Given the description of an element on the screen output the (x, y) to click on. 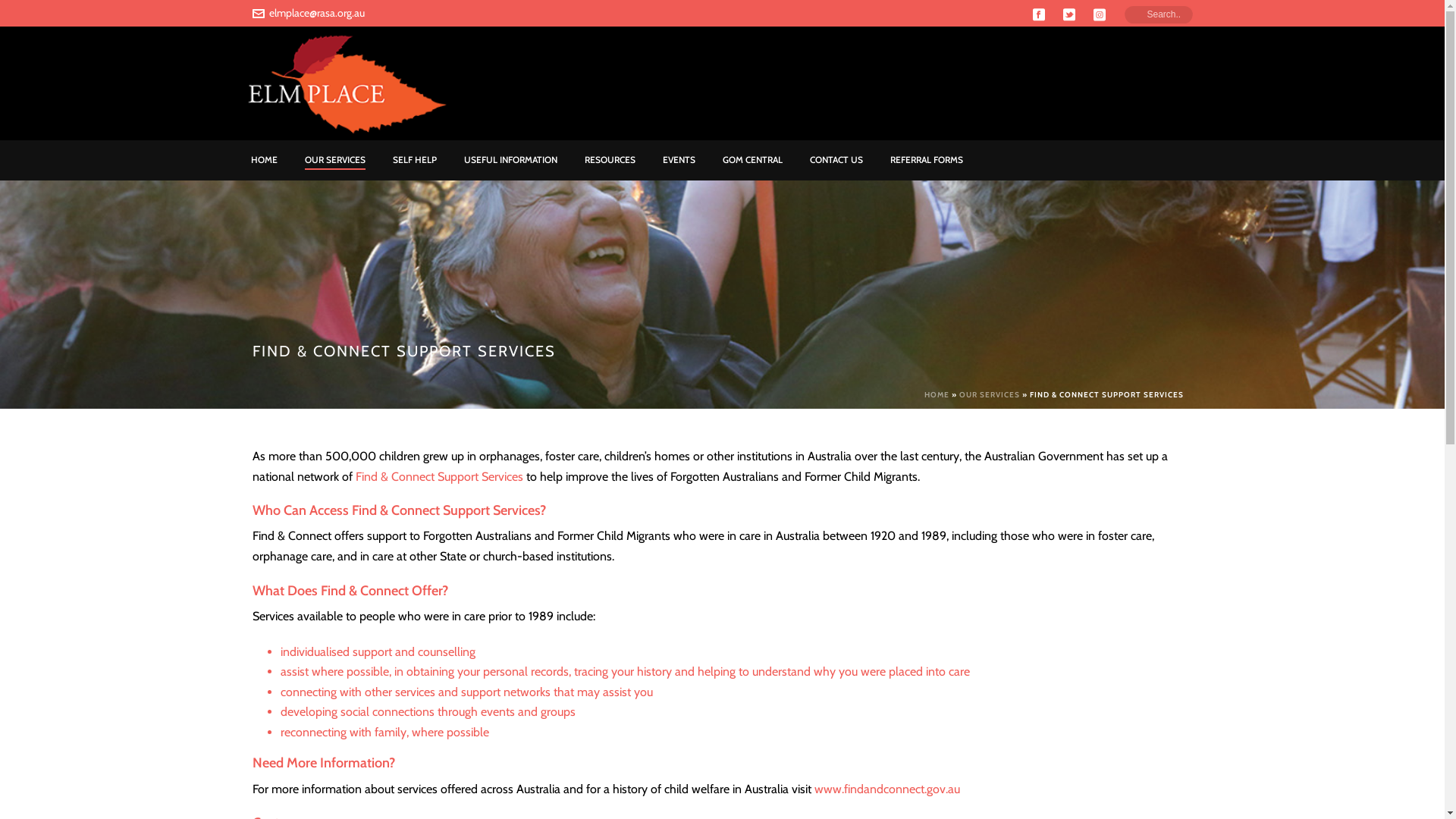
OUR SERVICES Element type: text (988, 394)
OUR SERVICES Element type: text (335, 160)
SELF HELP Element type: text (414, 160)
HOME Element type: text (935, 394)
EVENTS Element type: text (679, 160)
Elm Place Element type: hover (340, 83)
REFERRAL FORMS Element type: text (926, 160)
RESOURCES Element type: text (609, 160)
www.findandconnect.gov.au Element type: text (887, 788)
Find & Connect Support Services Element type: text (438, 476)
CONTACT US Element type: text (836, 160)
GOM CENTRAL Element type: text (751, 160)
USEFUL INFORMATION Element type: text (510, 160)
HOME Element type: text (263, 160)
elmplace@rasa.org.au Element type: text (316, 12)
